Given the description of an element on the screen output the (x, y) to click on. 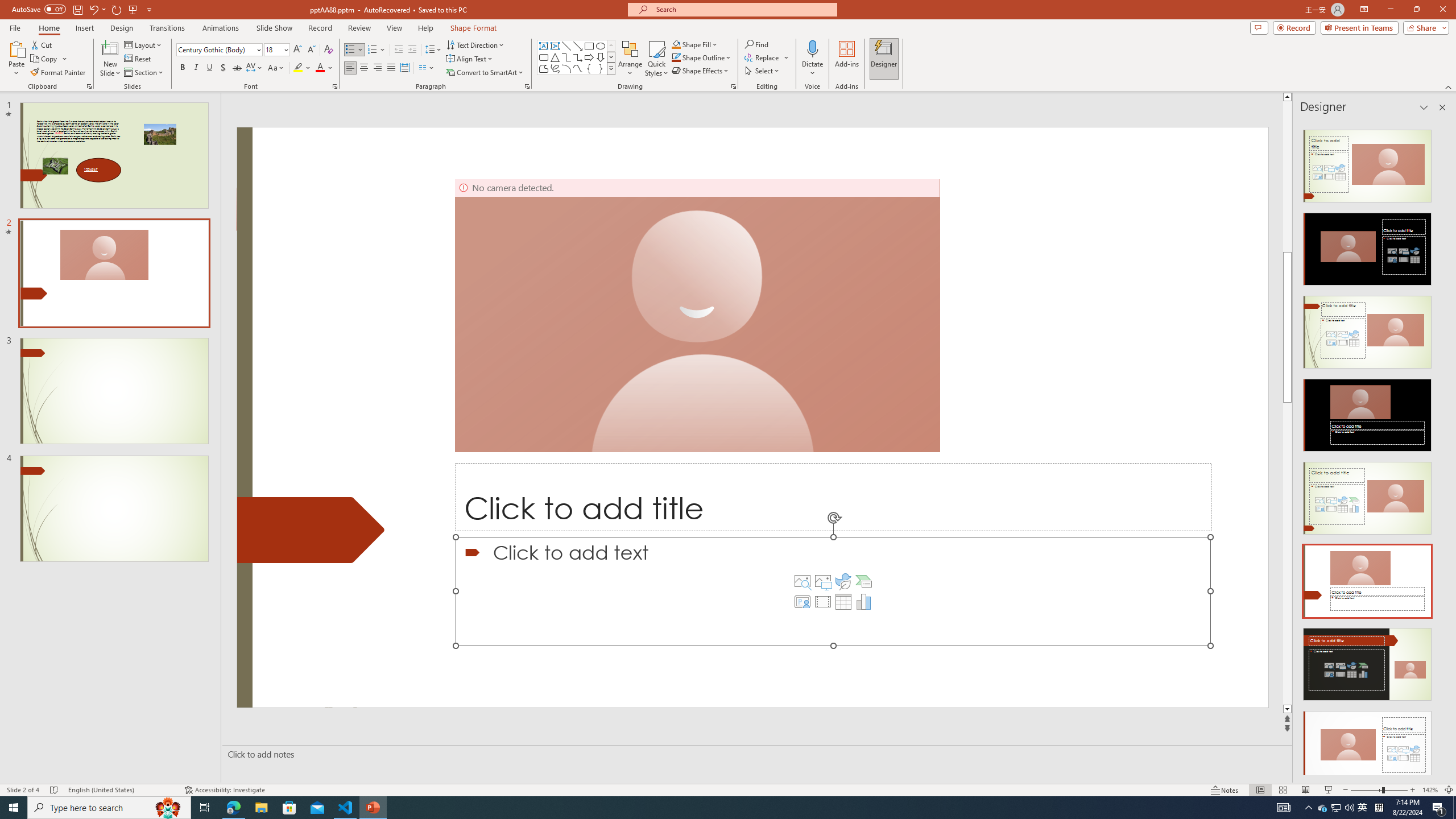
Content Placeholder (832, 591)
Shape Outline Teal, Accent 1 (675, 56)
